Given the description of an element on the screen output the (x, y) to click on. 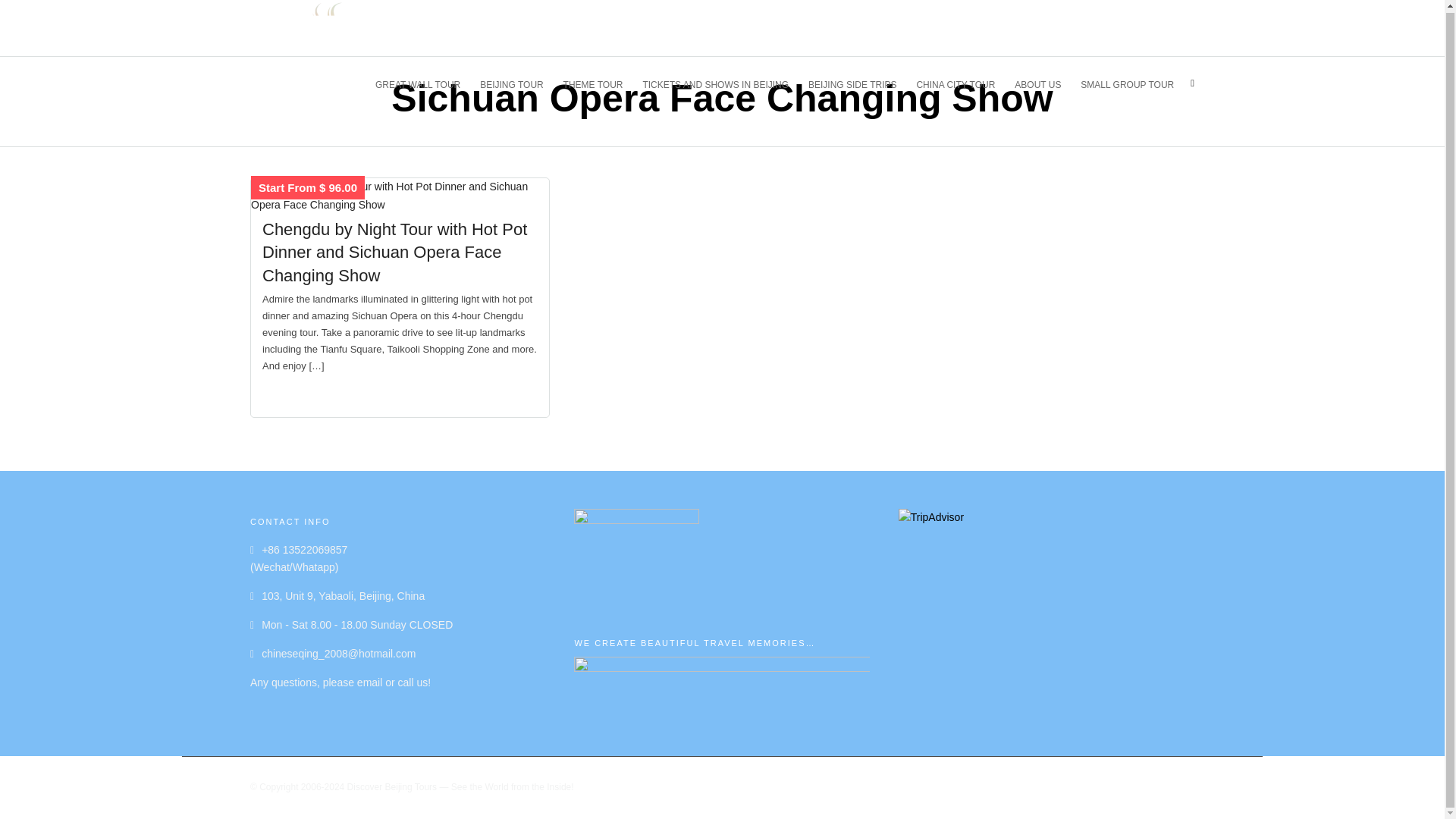
SMALL GROUP TOUR (1133, 82)
GREAT WALL TOUR (424, 82)
BEIJING TOUR (518, 82)
BEIJING SIDE TRIPS (858, 82)
CHINA CITY TOUR (961, 82)
TICKETS AND SHOWS IN BEIJING (722, 82)
THEME TOUR (599, 82)
ABOUT US (1044, 82)
